Given the description of an element on the screen output the (x, y) to click on. 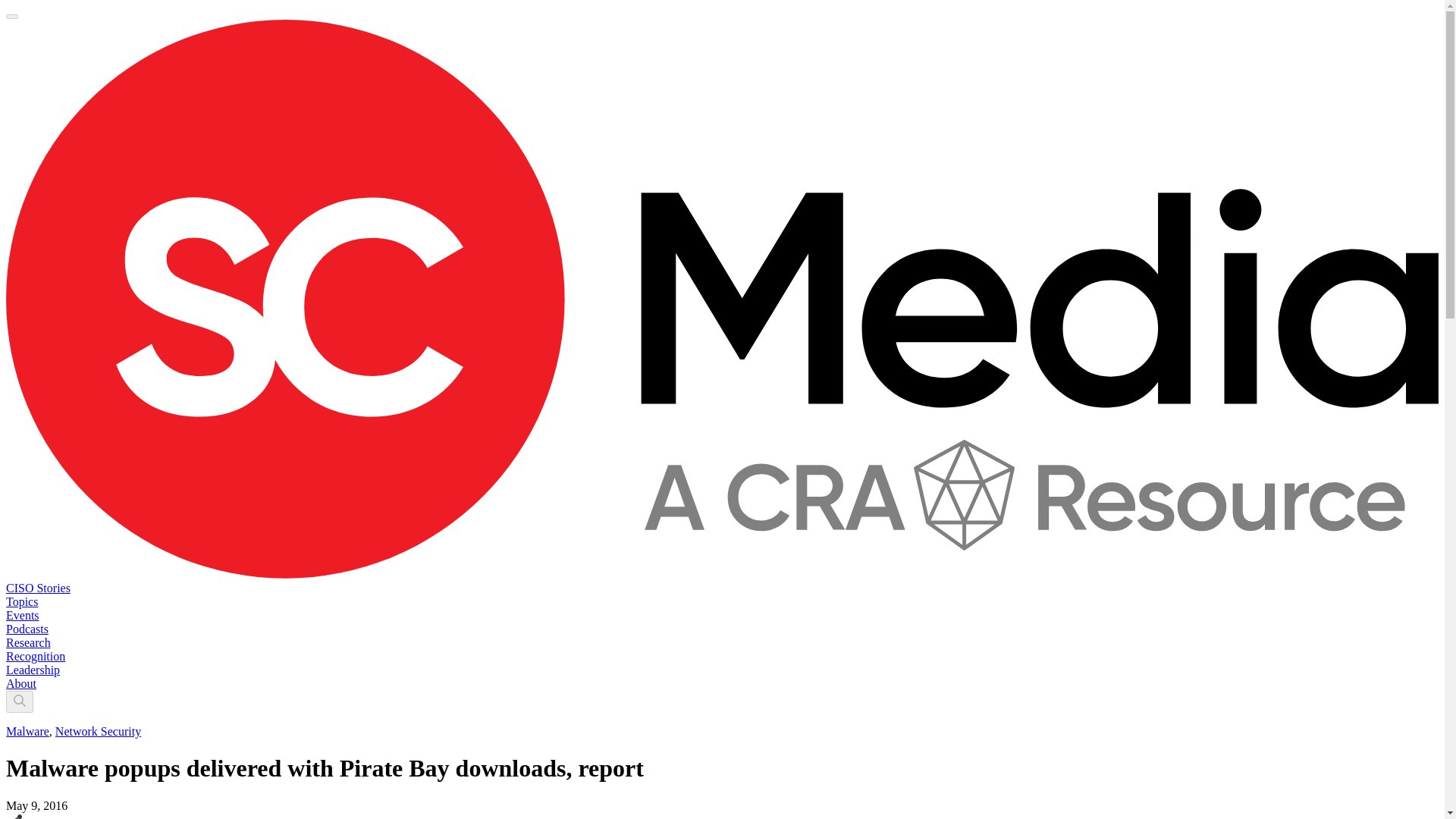
Recognition (35, 656)
Podcasts (26, 628)
CISO Stories (37, 587)
Research (27, 642)
About (20, 683)
Malware (27, 730)
Leadership (32, 669)
Network Security (98, 730)
Topics (21, 601)
Events (22, 615)
